Given the description of an element on the screen output the (x, y) to click on. 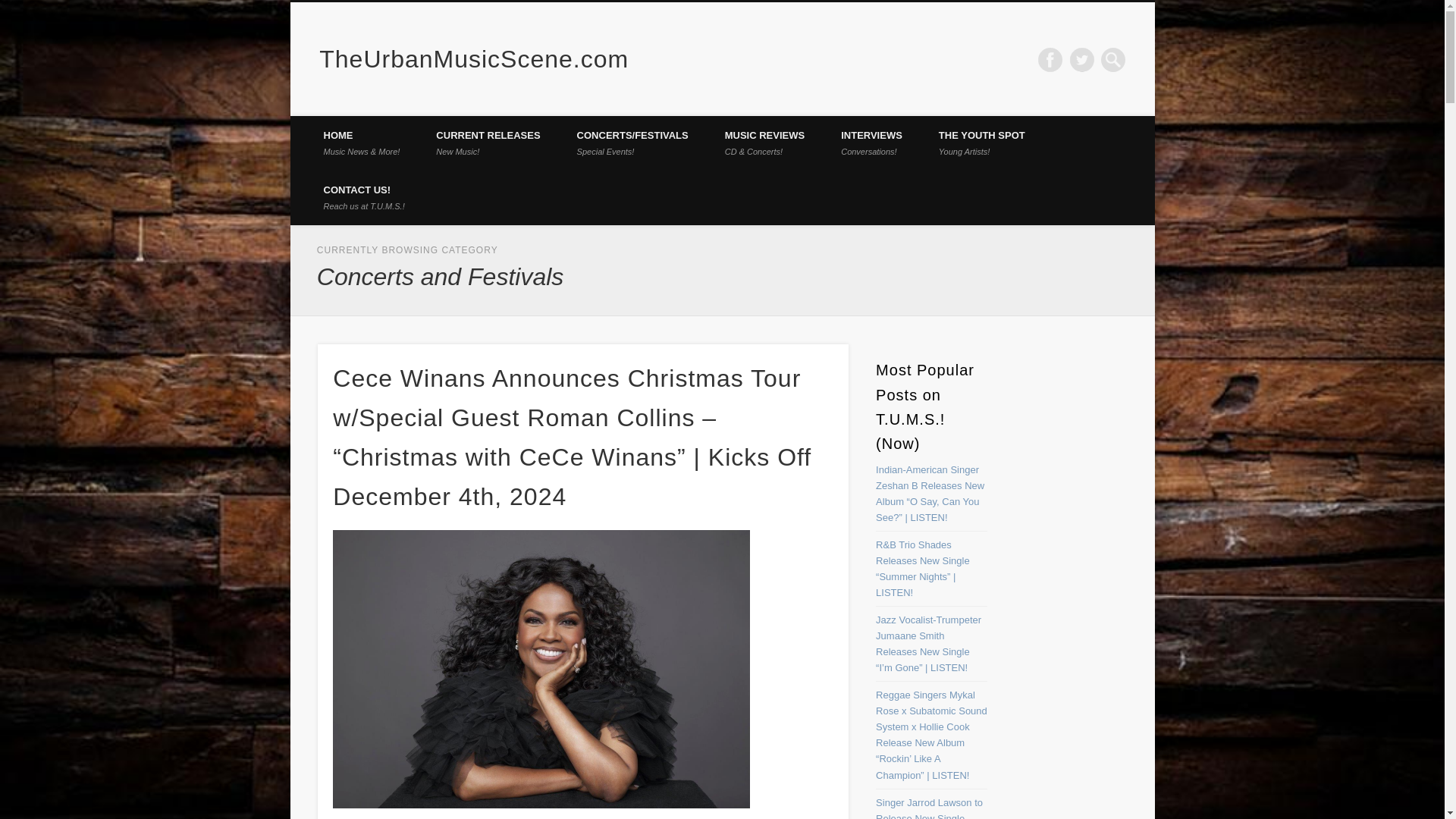
Facebook (871, 143)
Twitter (981, 143)
Search (363, 197)
TheUrbanMusicScene.com (1050, 59)
